Given the description of an element on the screen output the (x, y) to click on. 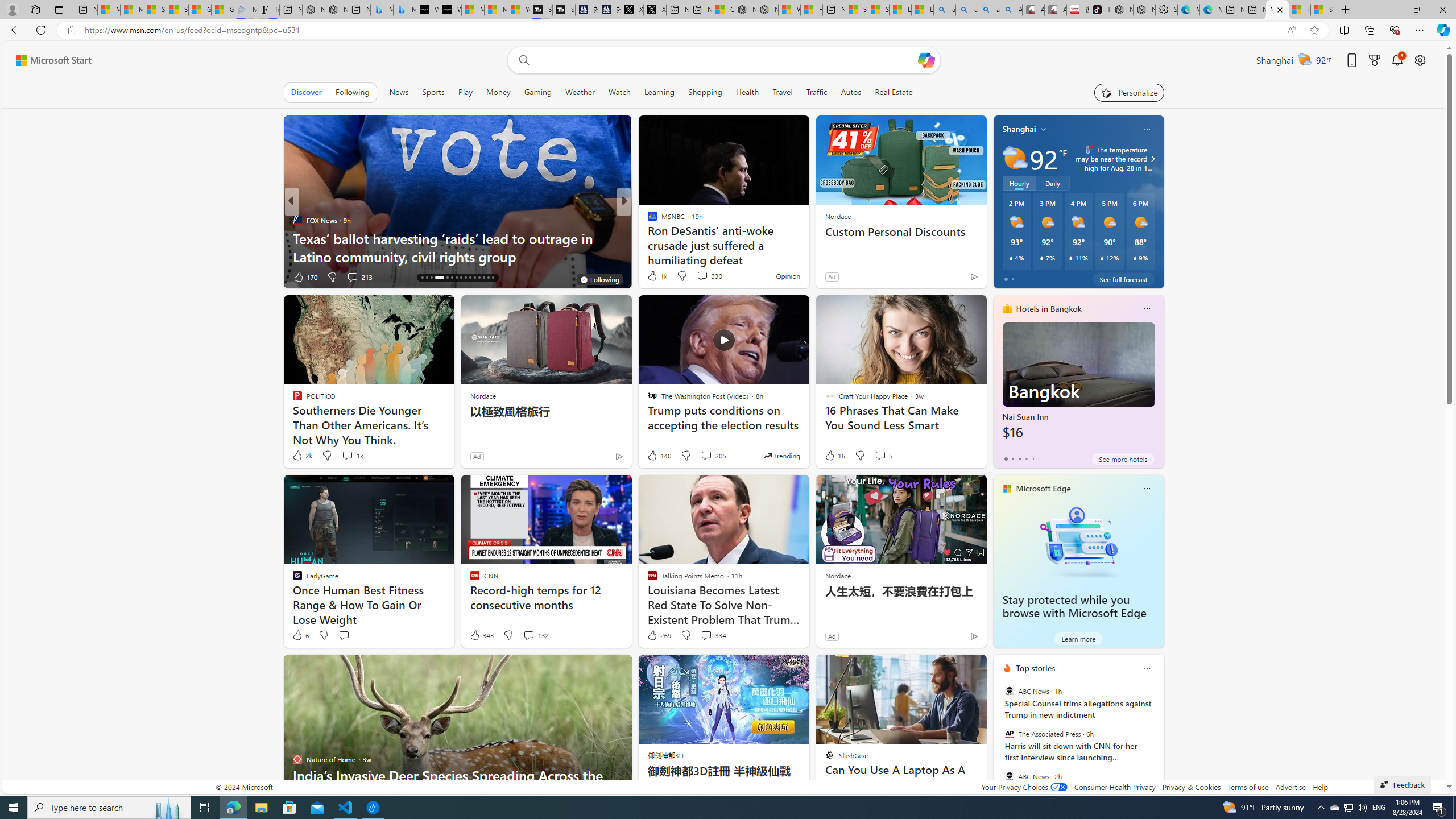
Advertise (1290, 786)
Real Estate (893, 92)
Hotels in Bangkok (1048, 308)
626 Like (654, 276)
Tom's Guide (647, 219)
View comments 1 Comment (698, 276)
AutomationID: tab-25 (470, 277)
View comments 353 Comment (703, 276)
Class: weather-current-precipitation-glyph (1134, 257)
AutomationID: tab-16 (422, 277)
